Given the description of an element on the screen output the (x, y) to click on. 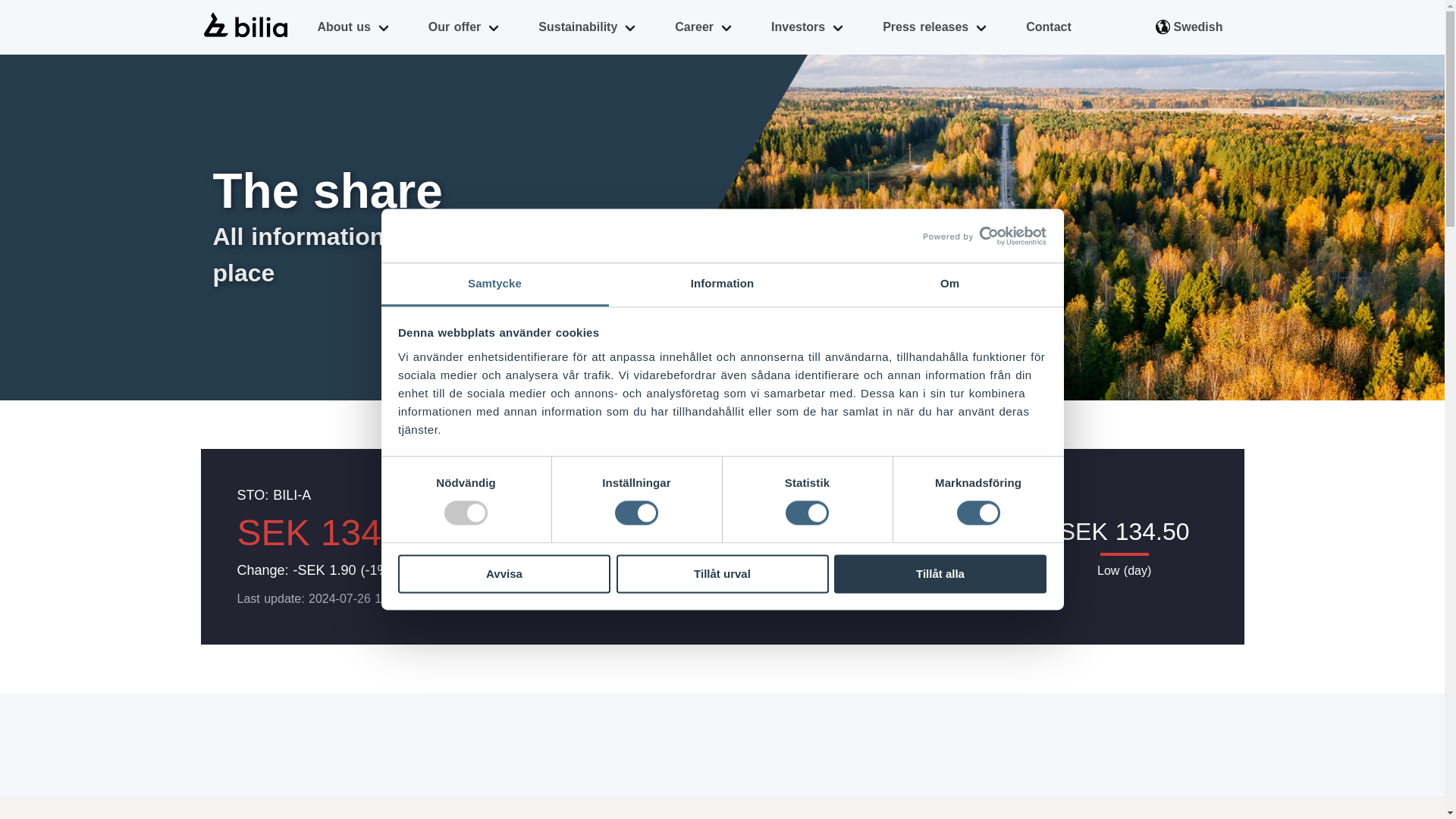
About us (353, 26)
About us (353, 26)
Sustainability (588, 26)
Our offer (465, 26)
Information (721, 284)
Avvisa (503, 573)
Om (948, 284)
Samtycke (494, 284)
